Given the description of an element on the screen output the (x, y) to click on. 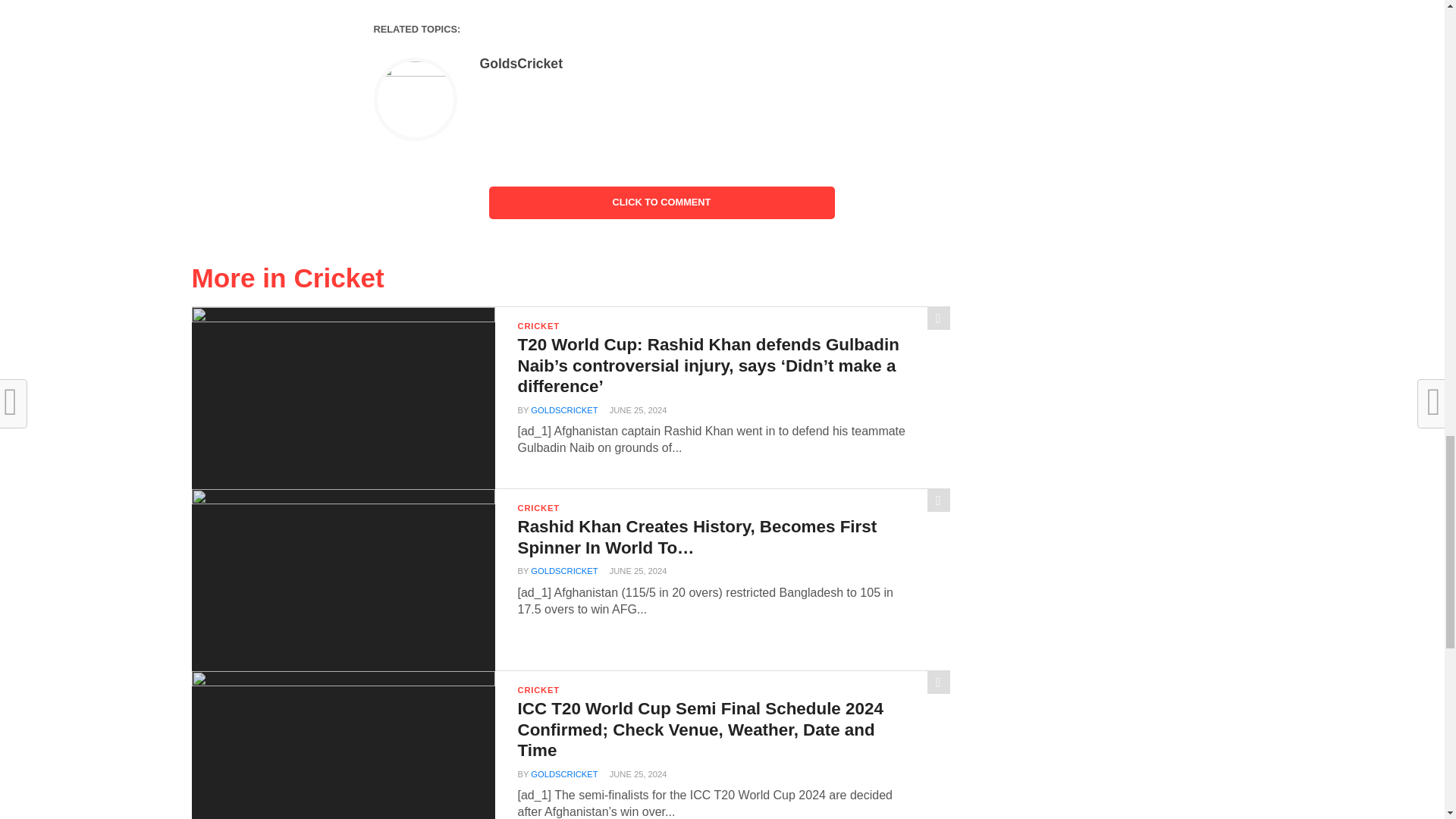
Posts by GoldsCricket (563, 570)
GOLDSCRICKET (563, 409)
Posts by GoldsCricket (520, 63)
Posts by GoldsCricket (563, 409)
GoldsCricket (520, 63)
